Given the description of an element on the screen output the (x, y) to click on. 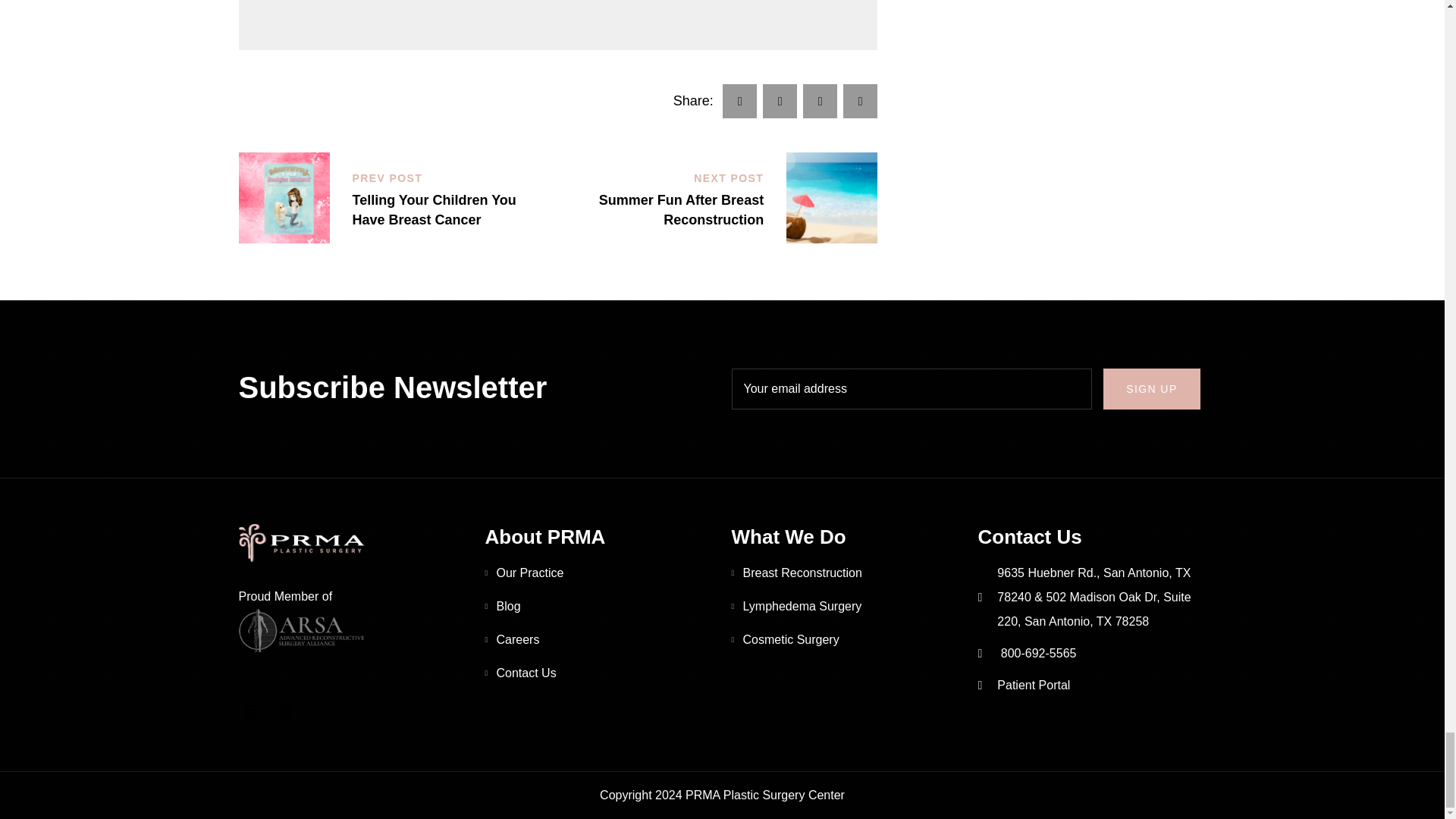
Sign up (1151, 388)
